Given the description of an element on the screen output the (x, y) to click on. 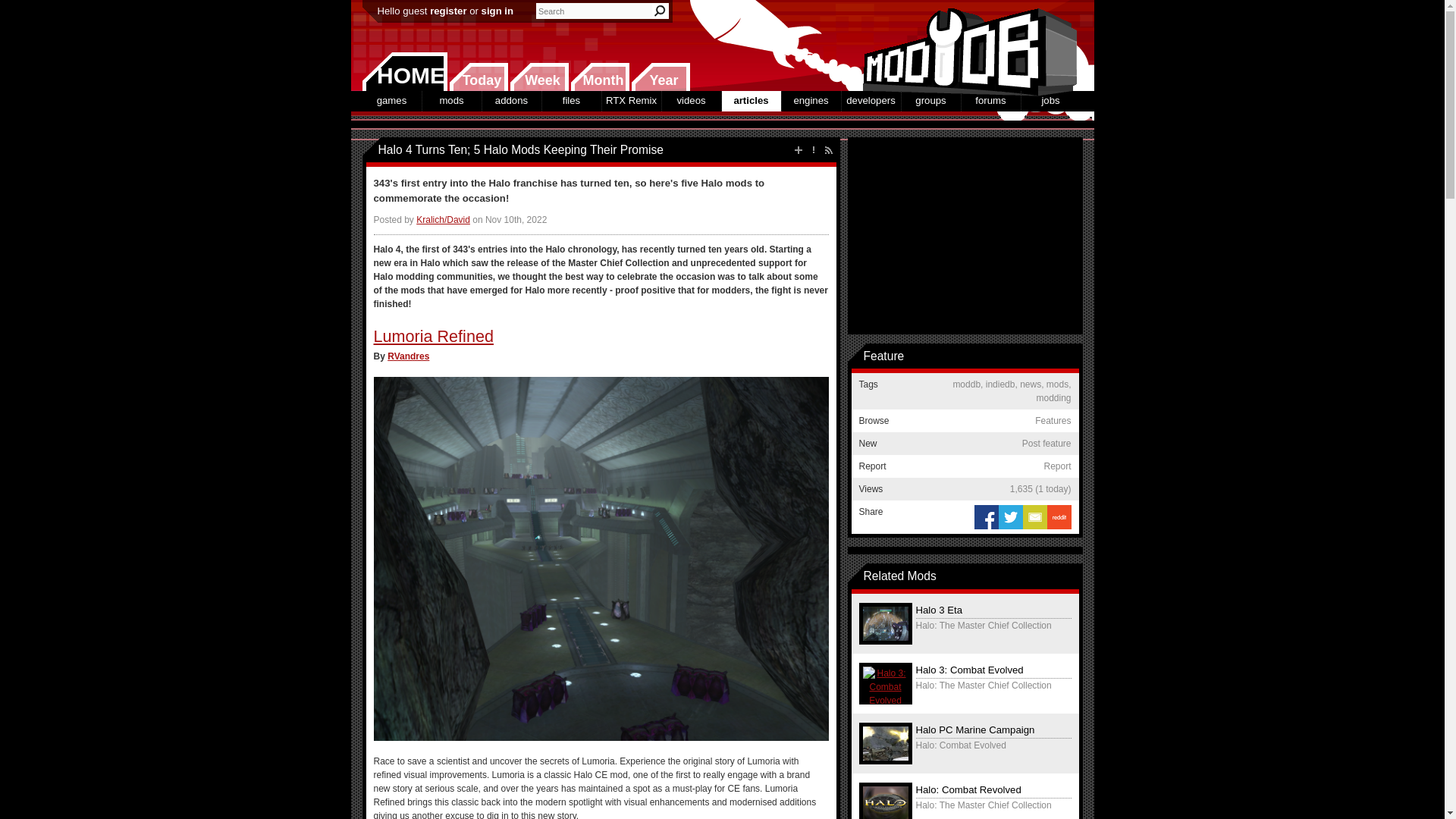
Month (599, 76)
mention:members:rvandres:4580378 (408, 356)
Today (478, 76)
Year (660, 76)
mods (451, 100)
HOME (405, 71)
RSS (828, 150)
New this month (599, 76)
Search (660, 10)
videos (690, 100)
